Given the description of an element on the screen output the (x, y) to click on. 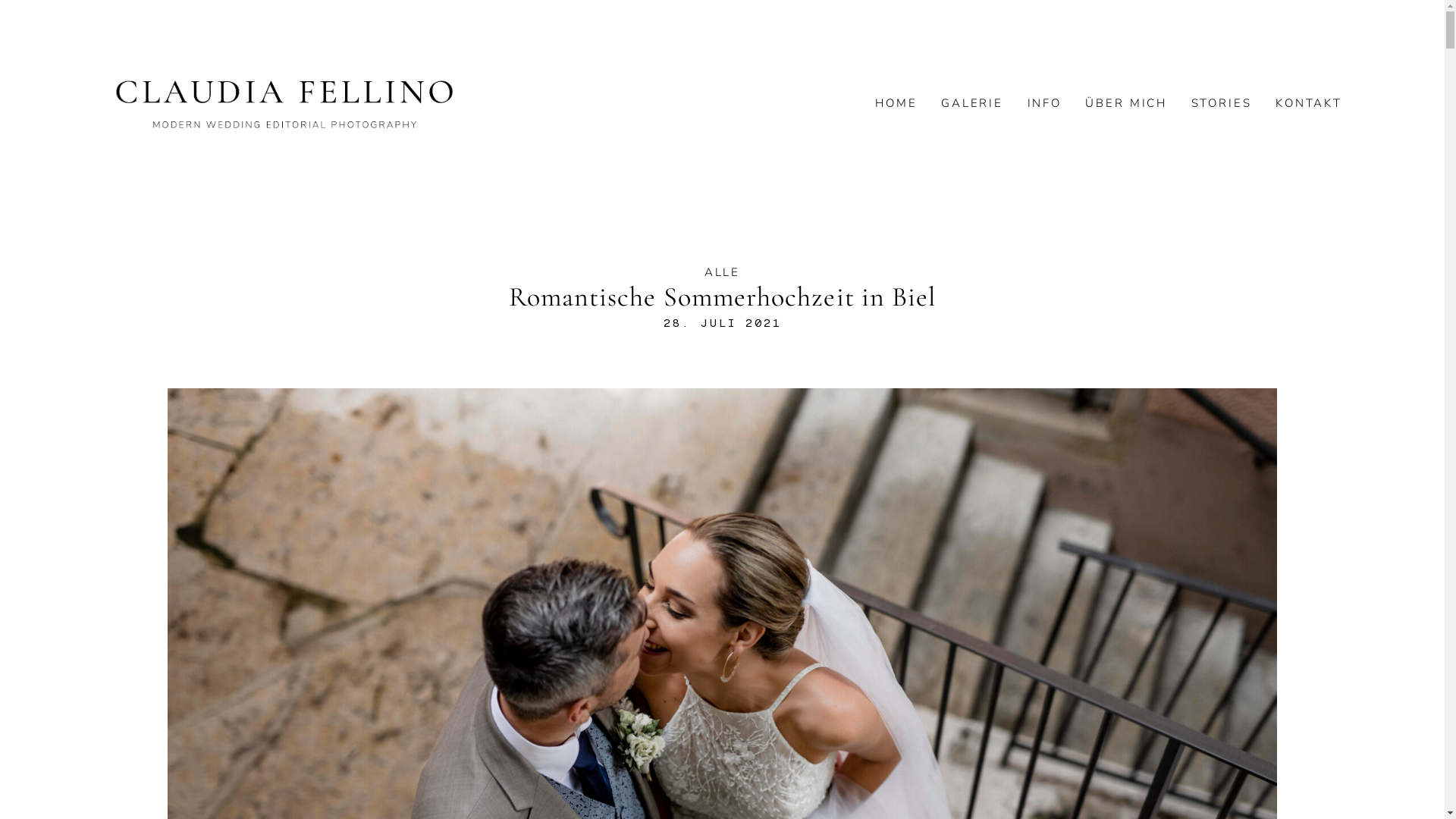
STORIES Element type: text (1221, 103)
INFO Element type: text (1044, 103)
GALERIE Element type: text (972, 103)
KONTAKT Element type: text (1308, 103)
ALLE Element type: text (722, 271)
HOME Element type: text (895, 103)
